Given the description of an element on the screen output the (x, y) to click on. 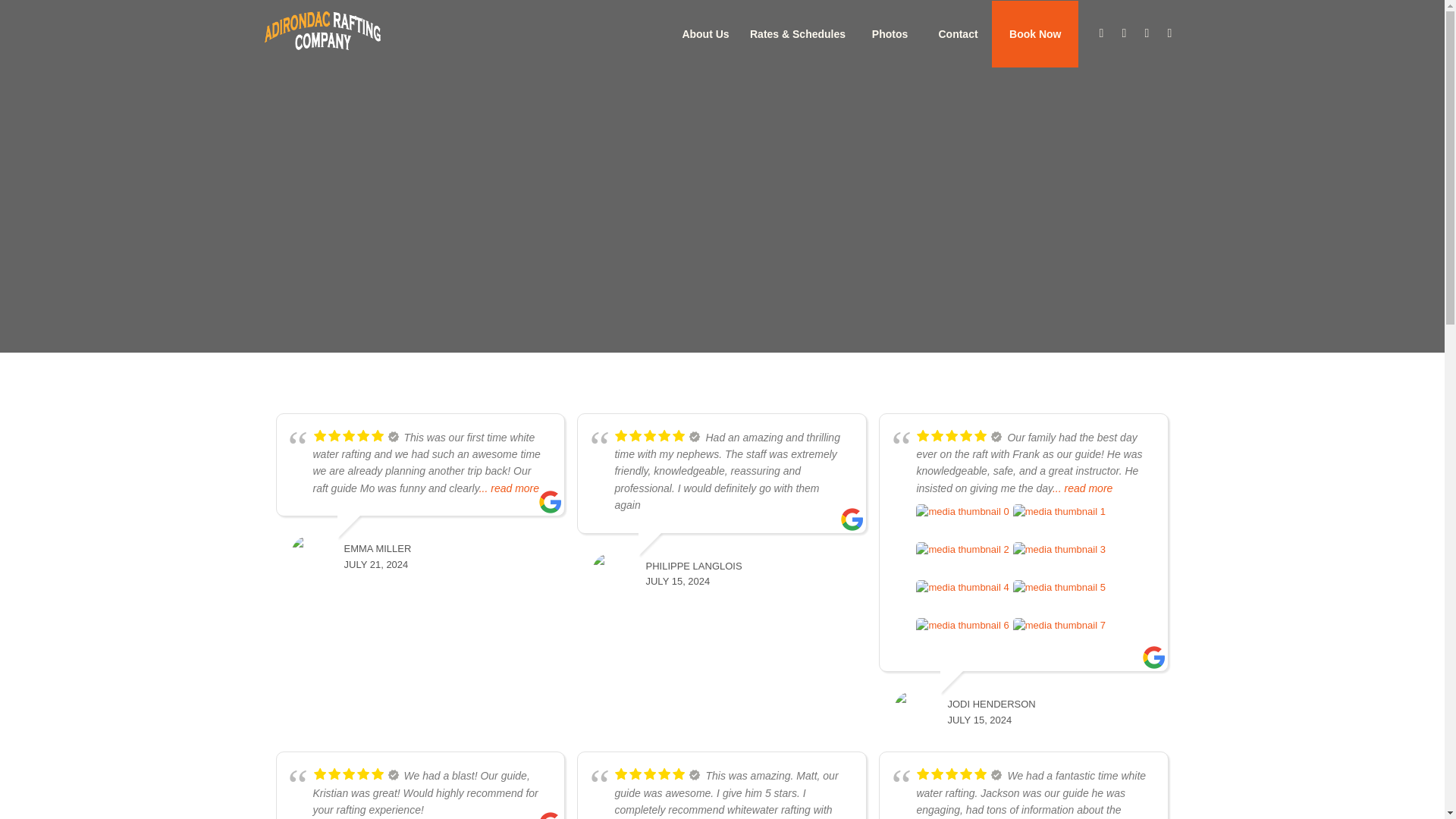
Youtube (1169, 33)
Book Now (1034, 33)
arc-logo-normal-2 (336, 33)
Instagram (1124, 33)
Facebook (1101, 33)
... read more (1082, 488)
... read more (508, 488)
Contact (957, 33)
X (1146, 33)
About Us (705, 33)
Photos (889, 33)
